Given the description of an element on the screen output the (x, y) to click on. 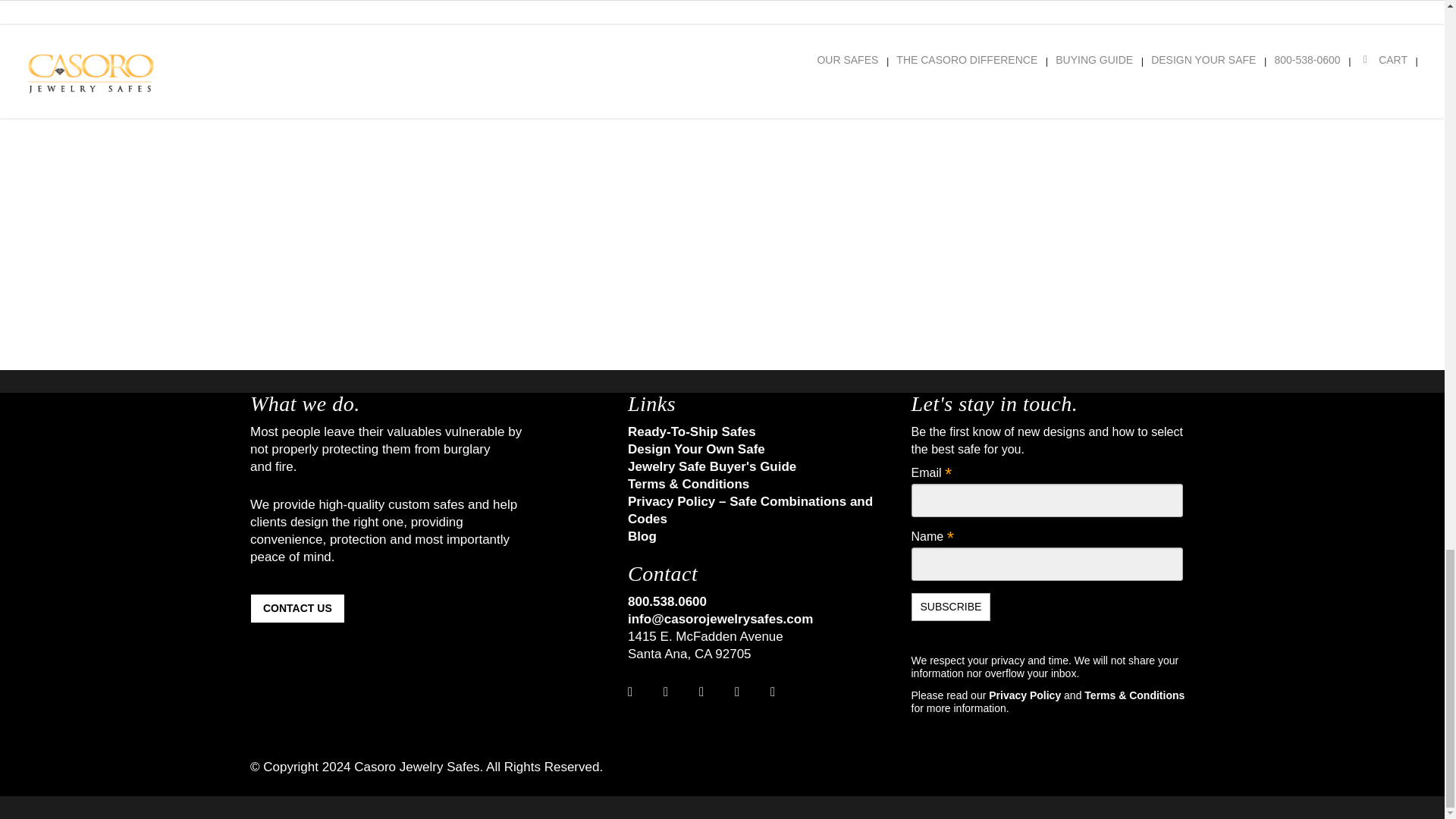
Subscribe (951, 606)
